Given the description of an element on the screen output the (x, y) to click on. 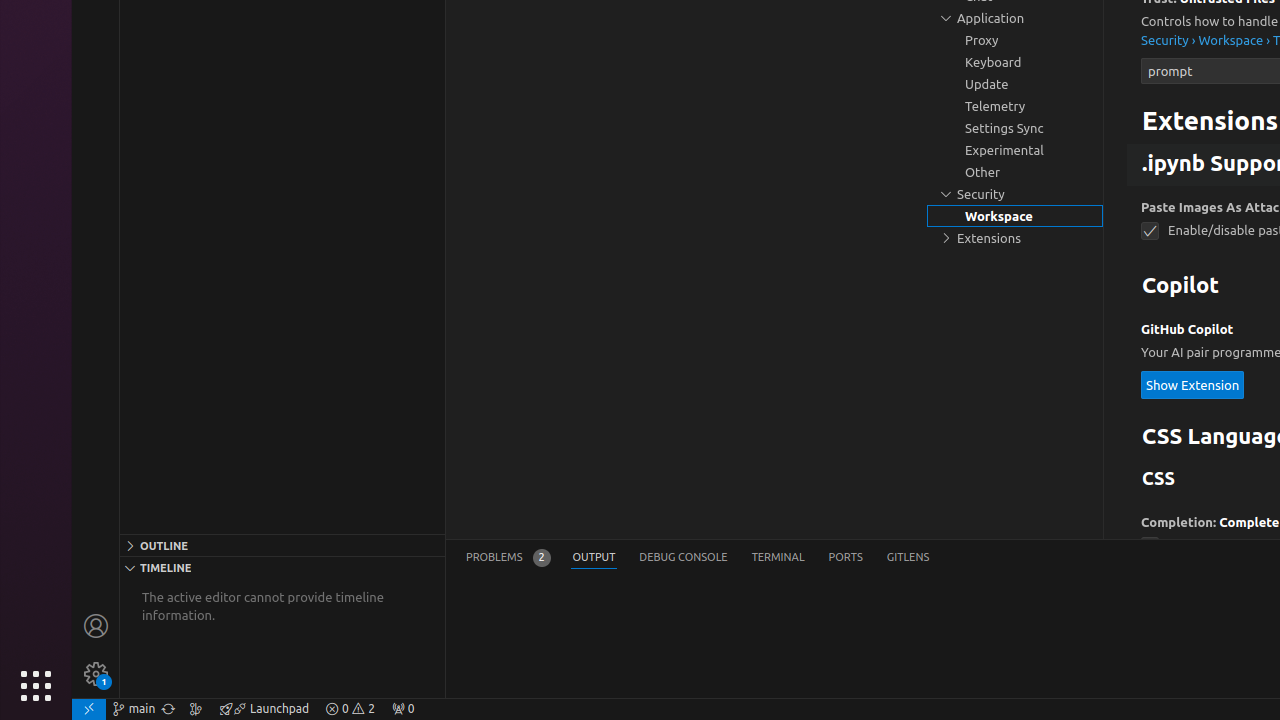
Ports Element type: page-tab (845, 557)
Keyboard, group Element type: tree-item (1015, 62)
Settings Sync, group Element type: tree-item (1015, 128)
Update, group Element type: tree-item (1015, 84)
No Ports Forwarded Element type: push-button (403, 709)
